Given the description of an element on the screen output the (x, y) to click on. 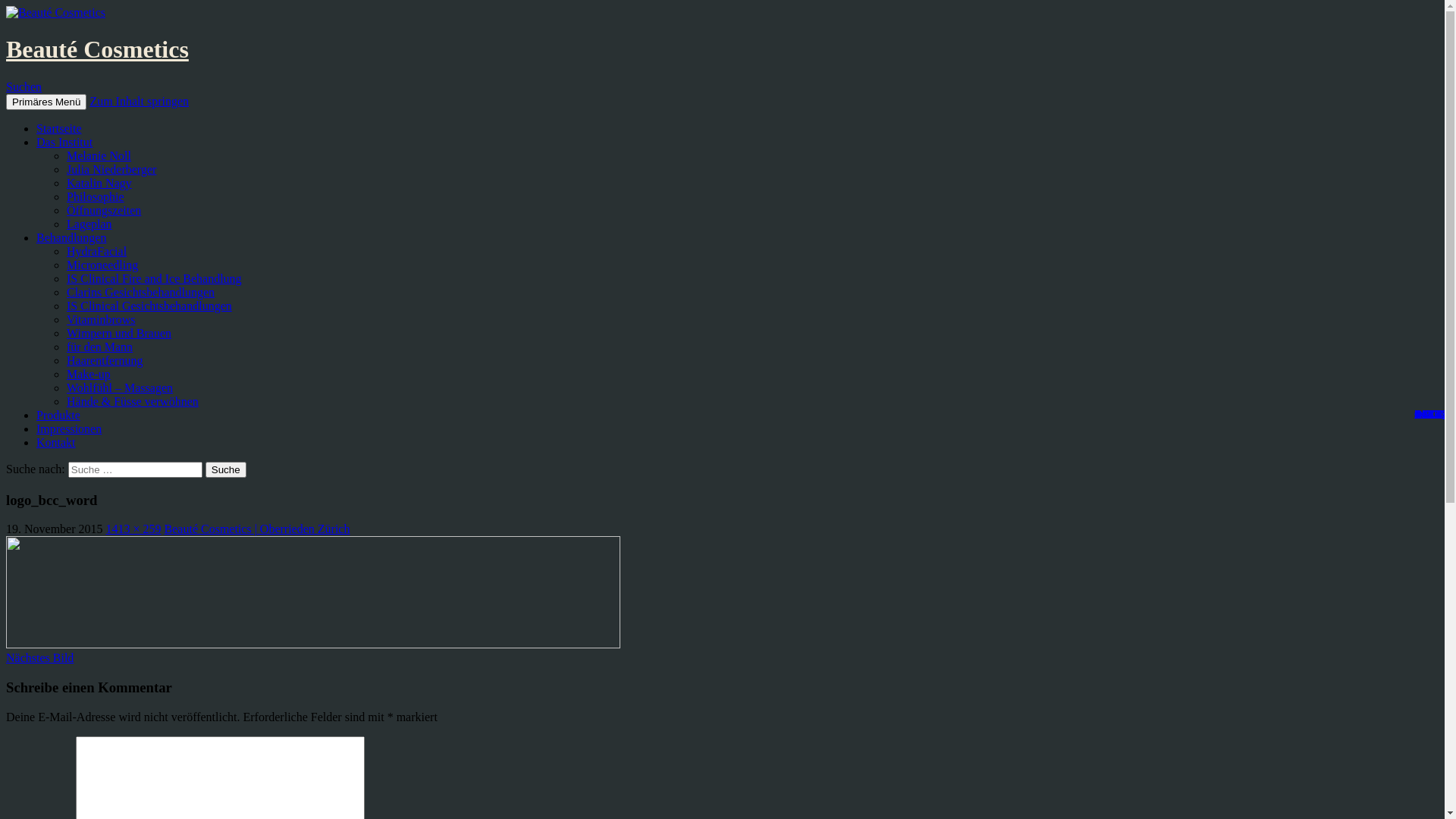
Lageplan Element type: text (89, 223)
Melanie Noll Element type: text (98, 155)
Produkte Element type: text (58, 414)
Suchen Element type: text (23, 86)
Das Institut Element type: text (64, 141)
Philosophie Element type: text (95, 196)
Zum Inhalt springen Element type: text (138, 100)
Impressionen Element type: text (68, 428)
Vitaminbrows Element type: text (100, 319)
Wimpern und Brauen Element type: text (118, 332)
Behandlungen Element type: text (71, 237)
IS Clinical Gesichtsbehandlungen Element type: text (149, 305)
Haarentfernung Element type: text (104, 360)
Microneedling Element type: text (102, 264)
HydraFacial Element type: text (96, 250)
Clarins Gesichtsbehandlungen Element type: text (140, 291)
Katalin Nagy Element type: text (98, 182)
IS Clinical Fire and Ice Behandlung Element type: text (153, 278)
Suche Element type: text (225, 469)
Kontakt Element type: text (55, 442)
Julia Niederberger Element type: text (111, 169)
Startseite Element type: text (58, 128)
Make-up Element type: text (88, 373)
